Given the description of an element on the screen output the (x, y) to click on. 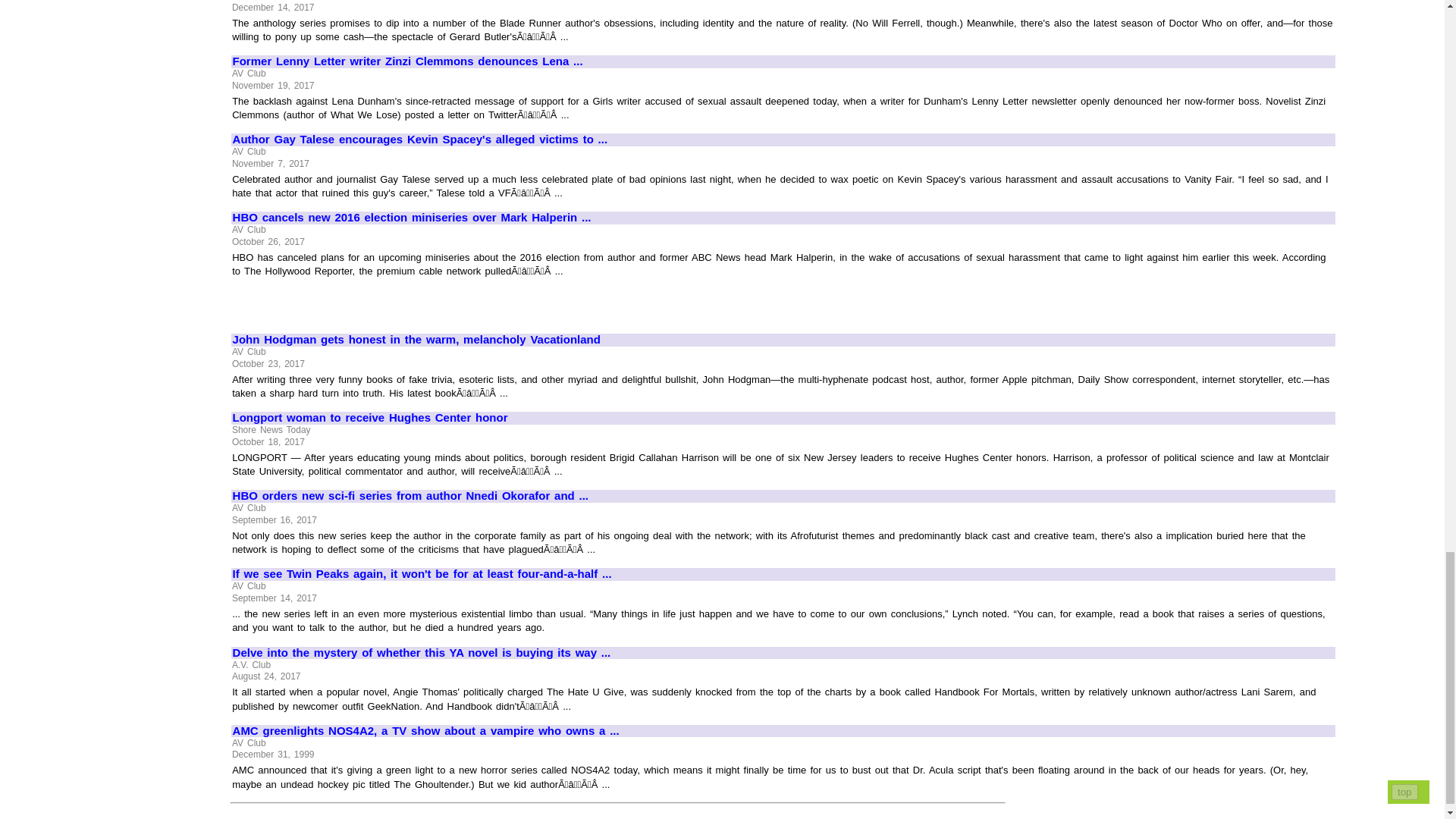
Longport woman to receive Hughes Center honor (782, 418)
